Given the description of an element on the screen output the (x, y) to click on. 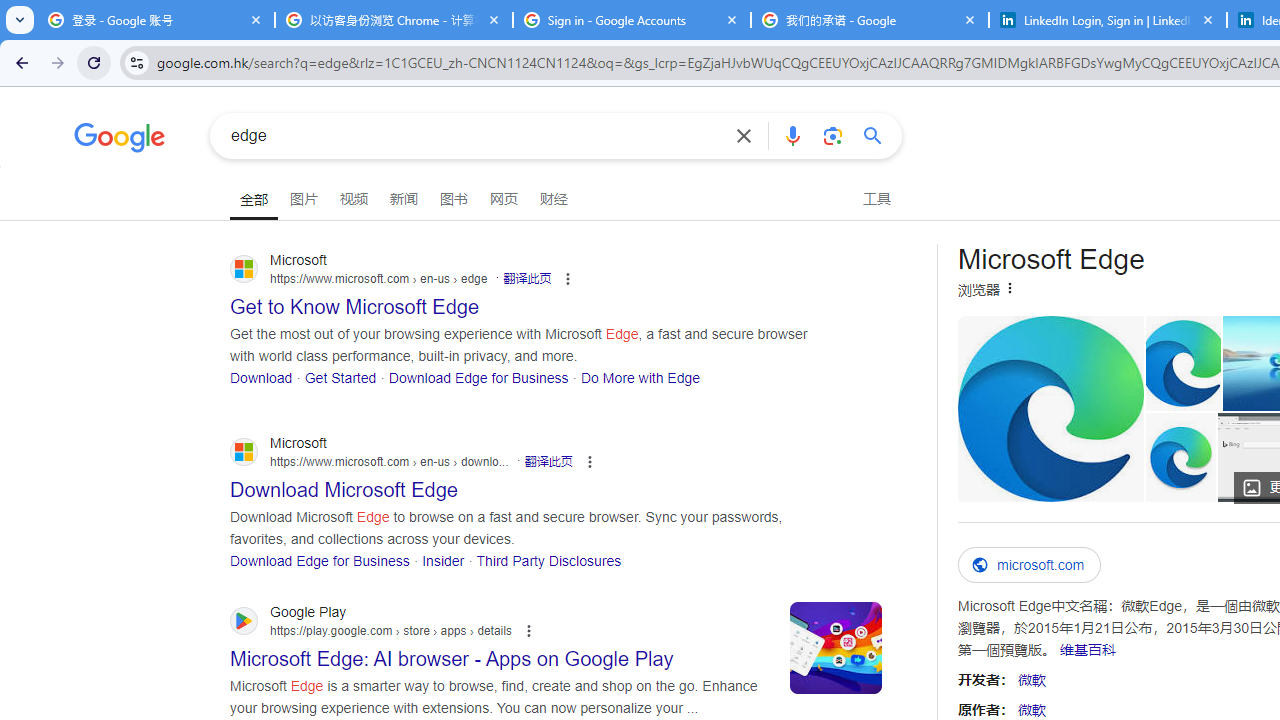
Download Edge for Business (319, 560)
Third Party Disclosures (549, 560)
Do More with Edge (641, 376)
Get Started (340, 376)
